Given the description of an element on the screen output the (x, y) to click on. 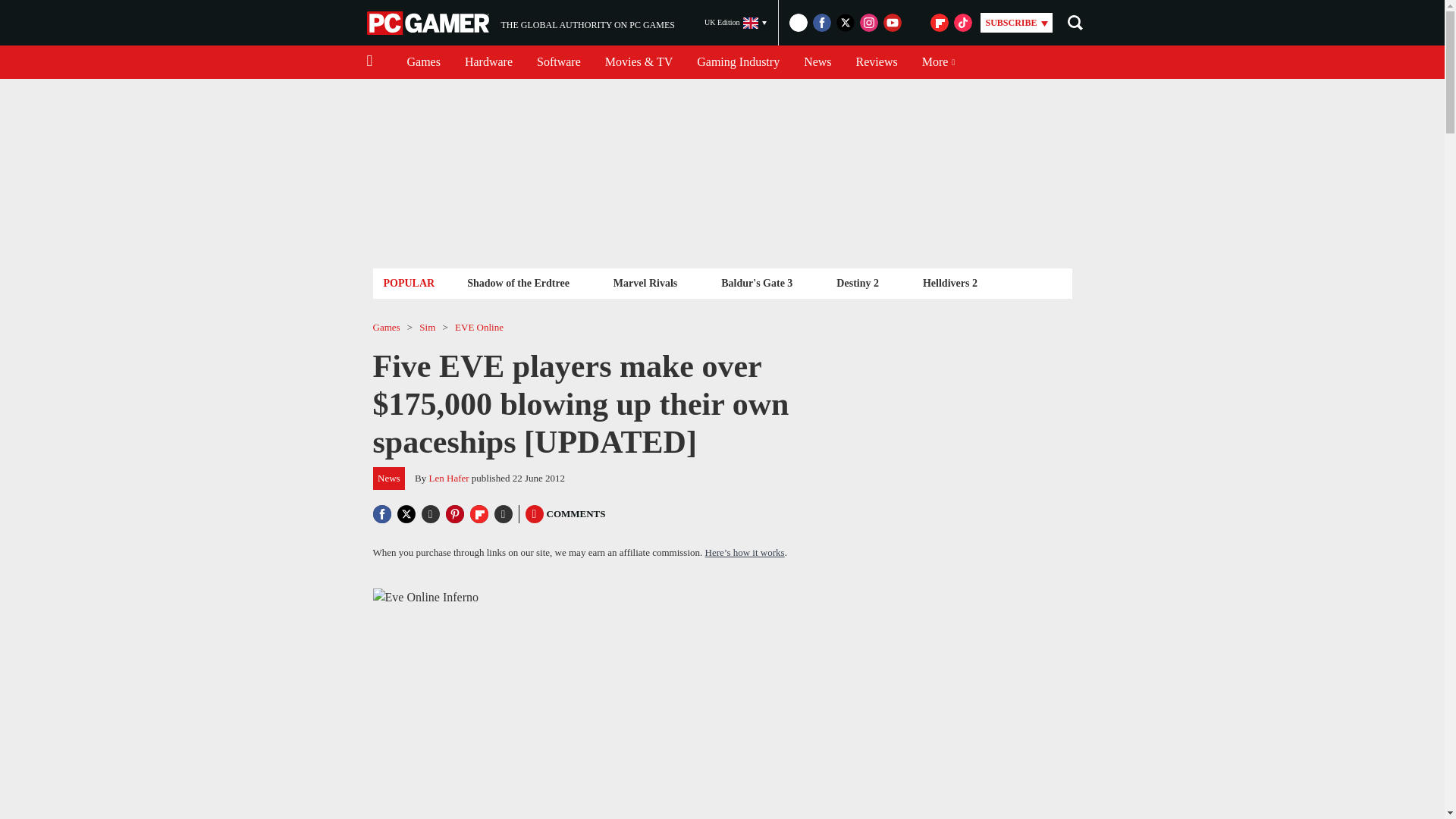
Software (558, 61)
Games (422, 61)
UK Edition (735, 22)
News (817, 61)
Hardware (488, 61)
PC Gamer (520, 22)
Reviews (429, 22)
Gaming Industry (877, 61)
Marvel Rivals (738, 61)
Shadow of the Erdtree (645, 282)
